Given the description of an element on the screen output the (x, y) to click on. 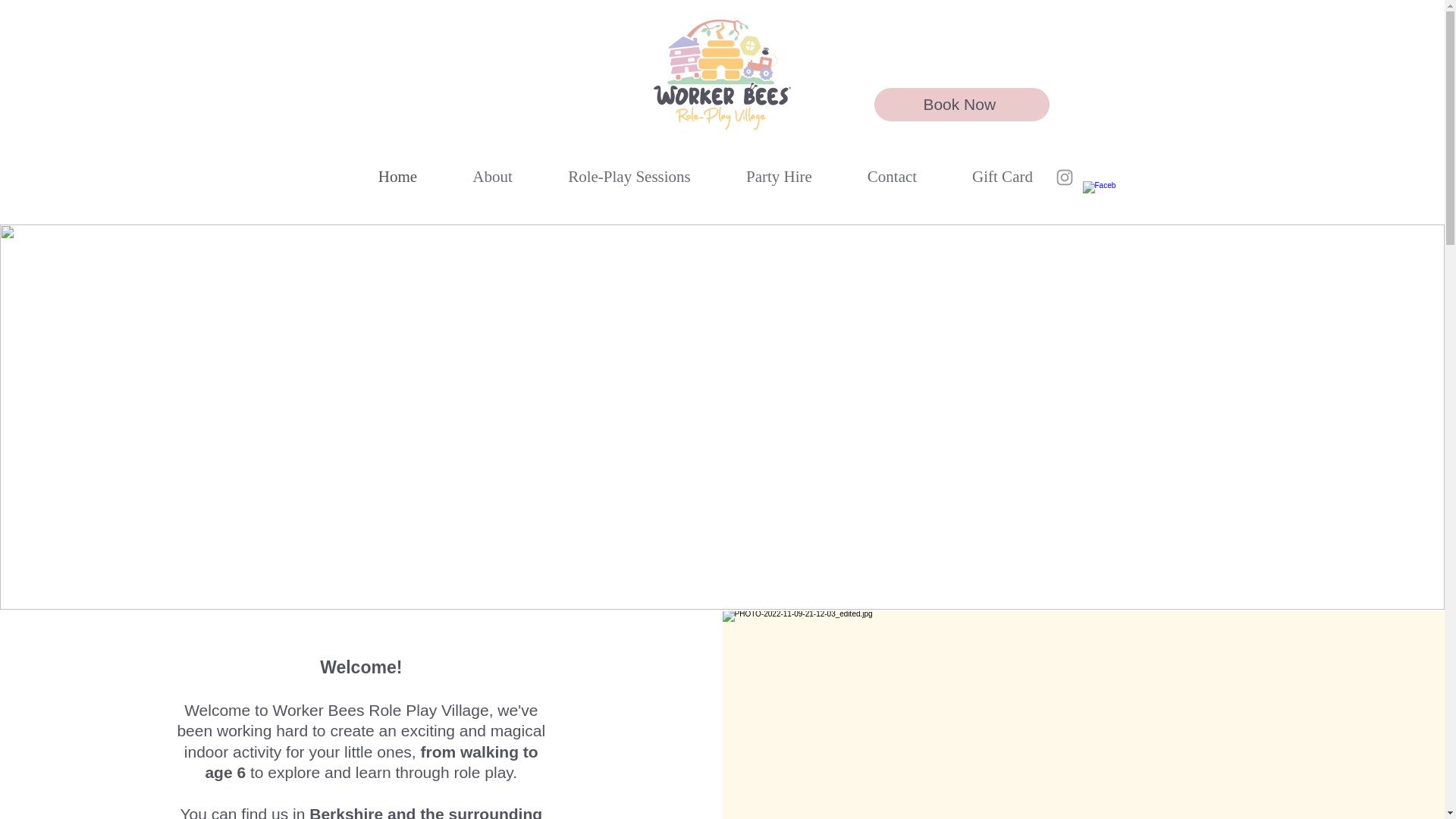
Book Now (960, 104)
Contact (892, 176)
Home (397, 176)
Role-Play Sessions (628, 176)
Party Hire (779, 176)
Gift Card (1002, 176)
About (492, 176)
